Given the description of an element on the screen output the (x, y) to click on. 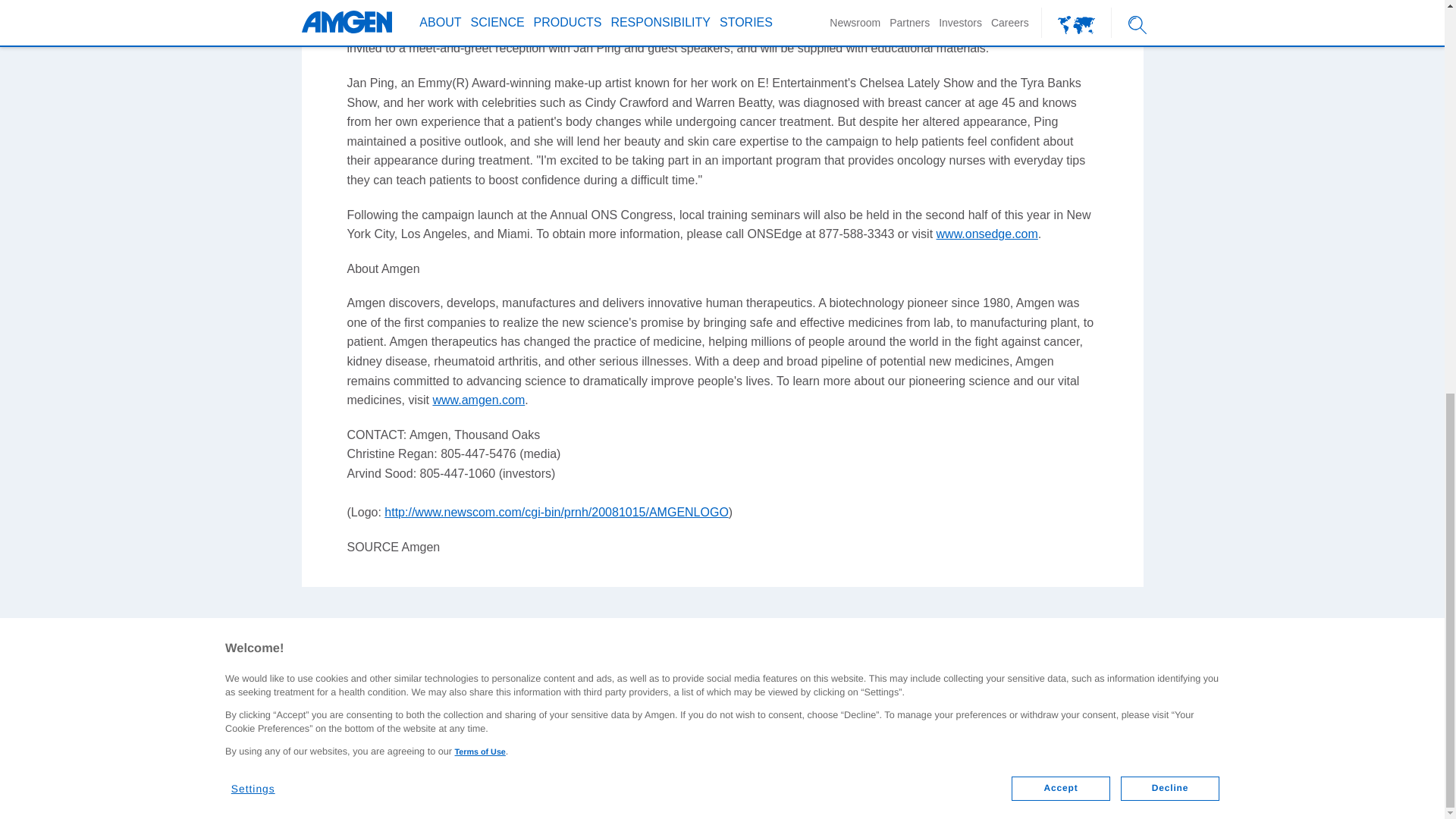
Settings (262, 25)
Accept (1060, 31)
Decline (1170, 31)
